Given the description of an element on the screen output the (x, y) to click on. 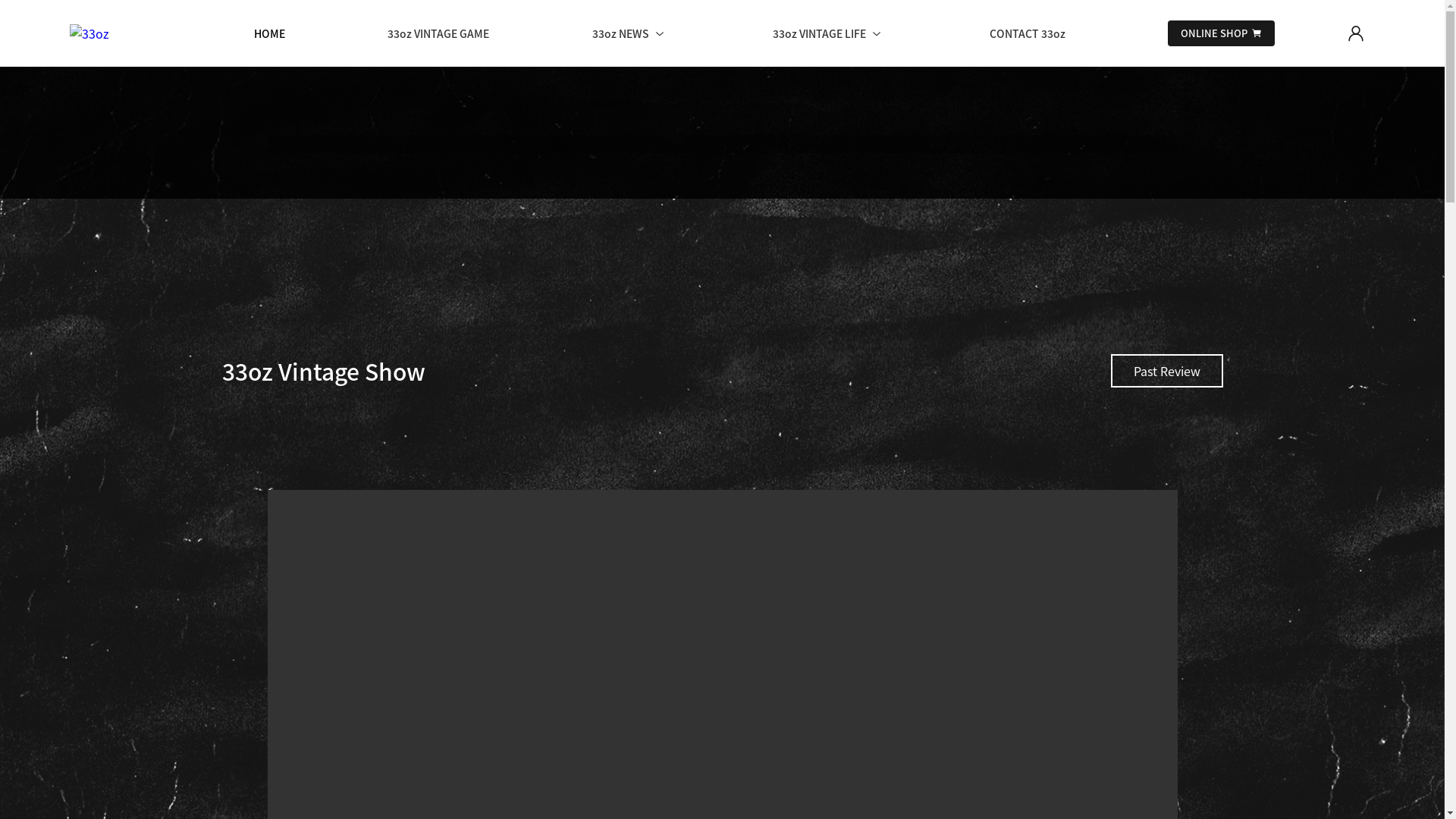
Past Review Element type: text (1166, 370)
CONTACT 33oz Element type: text (1027, 33)
HOME Element type: text (269, 33)
33oz VINTAGE GAME Element type: text (438, 33)
